Given the description of an element on the screen output the (x, y) to click on. 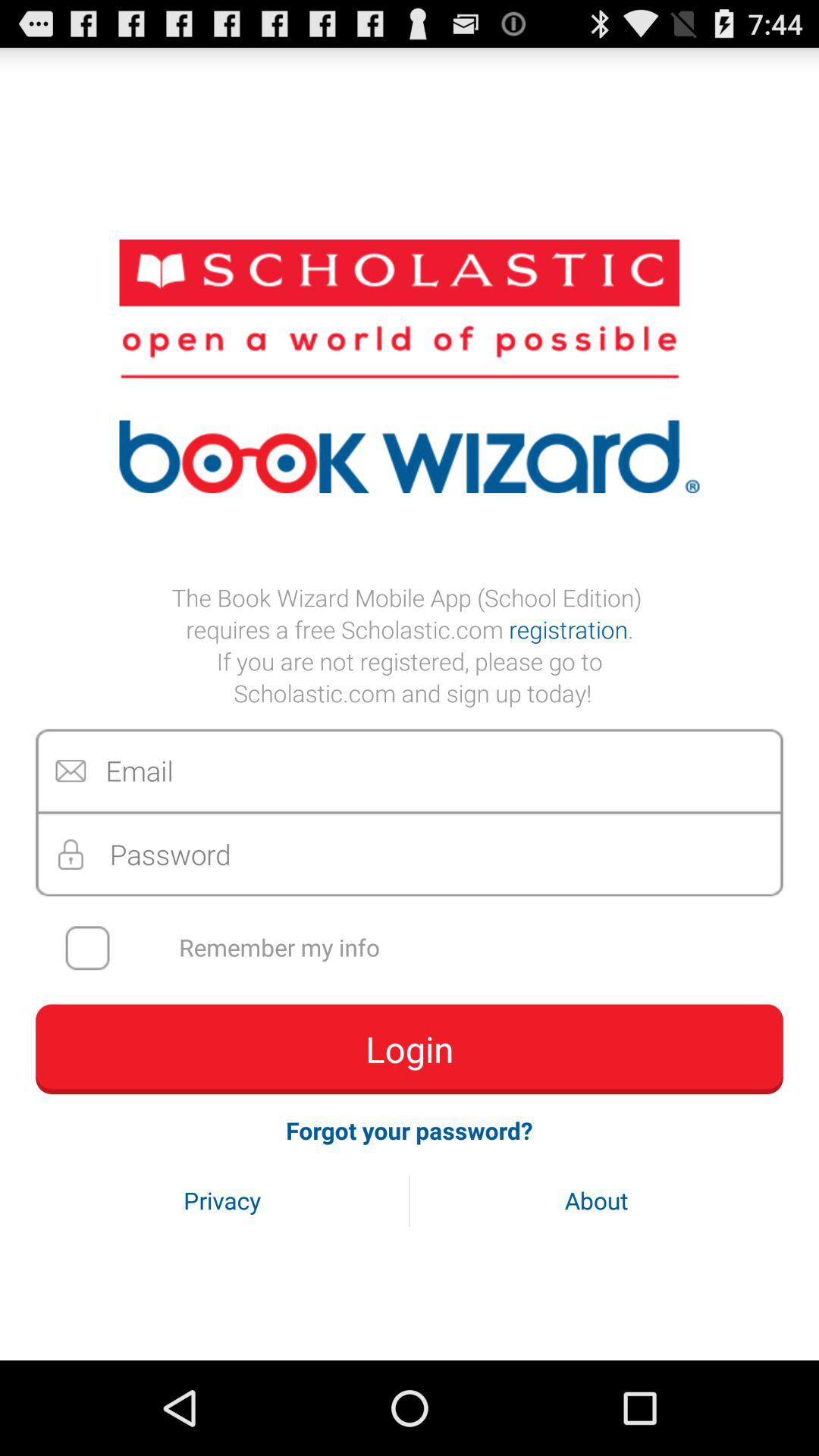
enter password (409, 854)
